Given the description of an element on the screen output the (x, y) to click on. 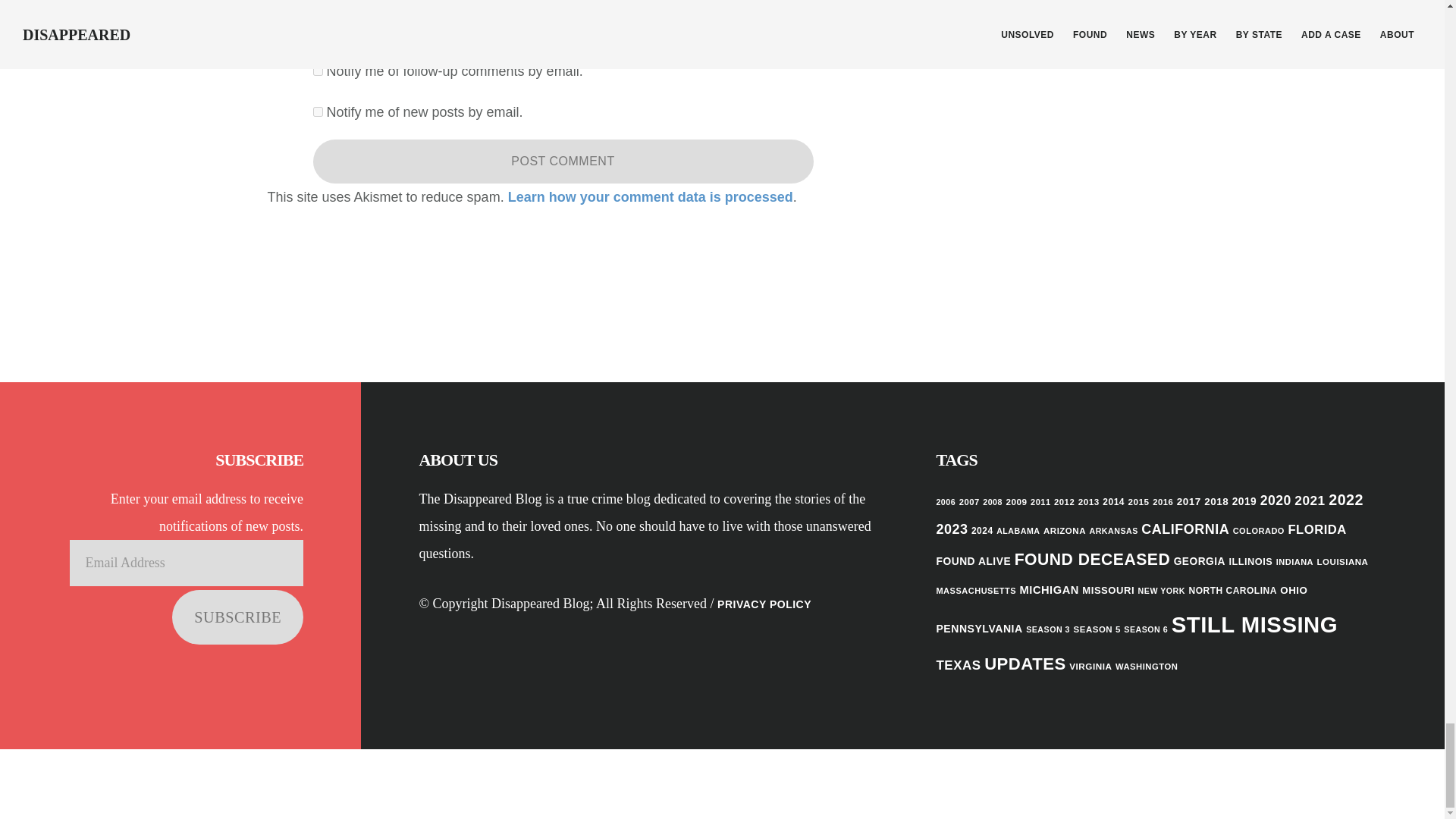
subscribe (317, 112)
Post Comment (562, 161)
Learn how your comment data is processed (650, 196)
Post Comment (562, 161)
subscribe (317, 71)
